Given the description of an element on the screen output the (x, y) to click on. 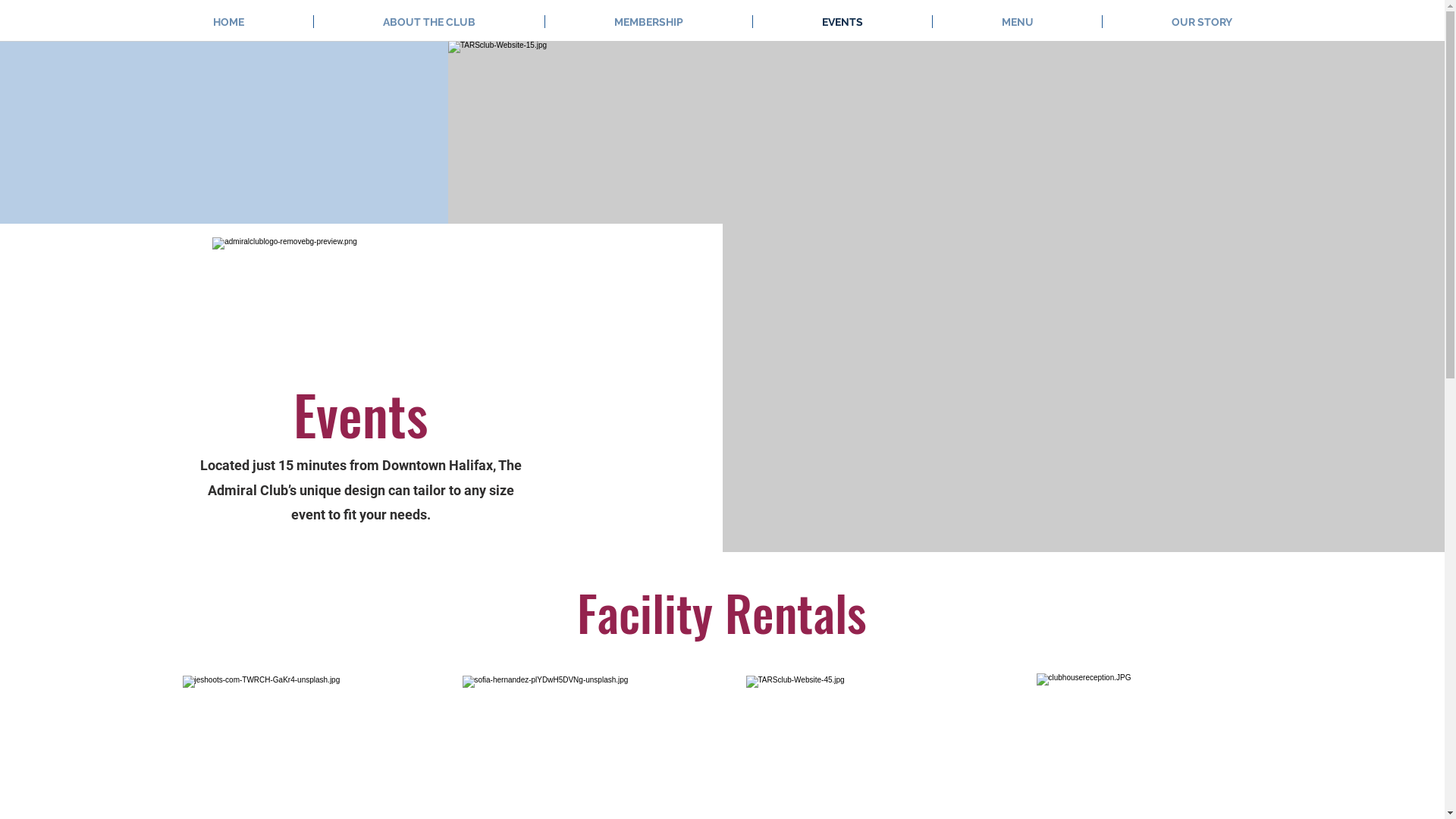
HOME Element type: text (228, 21)
ABOUT THE CLUB Element type: text (428, 21)
MENU Element type: text (1016, 21)
MEMBERSHIP Element type: text (648, 21)
OUR STORY Element type: text (1201, 21)
EVENTS Element type: text (842, 21)
